Given the description of an element on the screen output the (x, y) to click on. 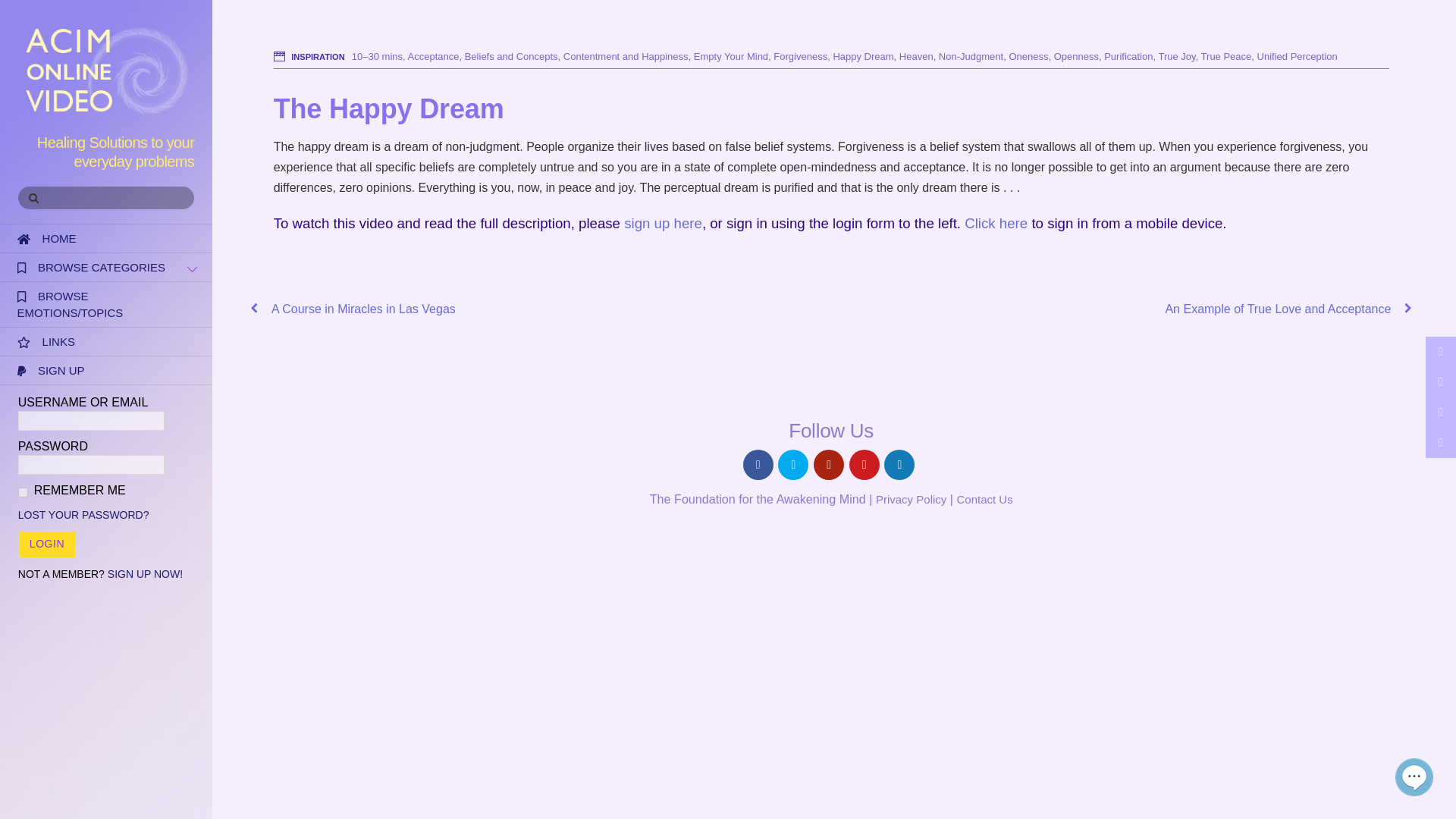
Contact Us (983, 499)
The Happy Dream (388, 108)
1 (22, 492)
A Course in Miracles in Las Vegas (523, 308)
Happy Dream (862, 56)
Non-Judgment (971, 56)
An Example of True Love and Acceptance (1139, 308)
Acceptance (433, 56)
HOME (106, 238)
Openness (1076, 56)
